Given the description of an element on the screen output the (x, y) to click on. 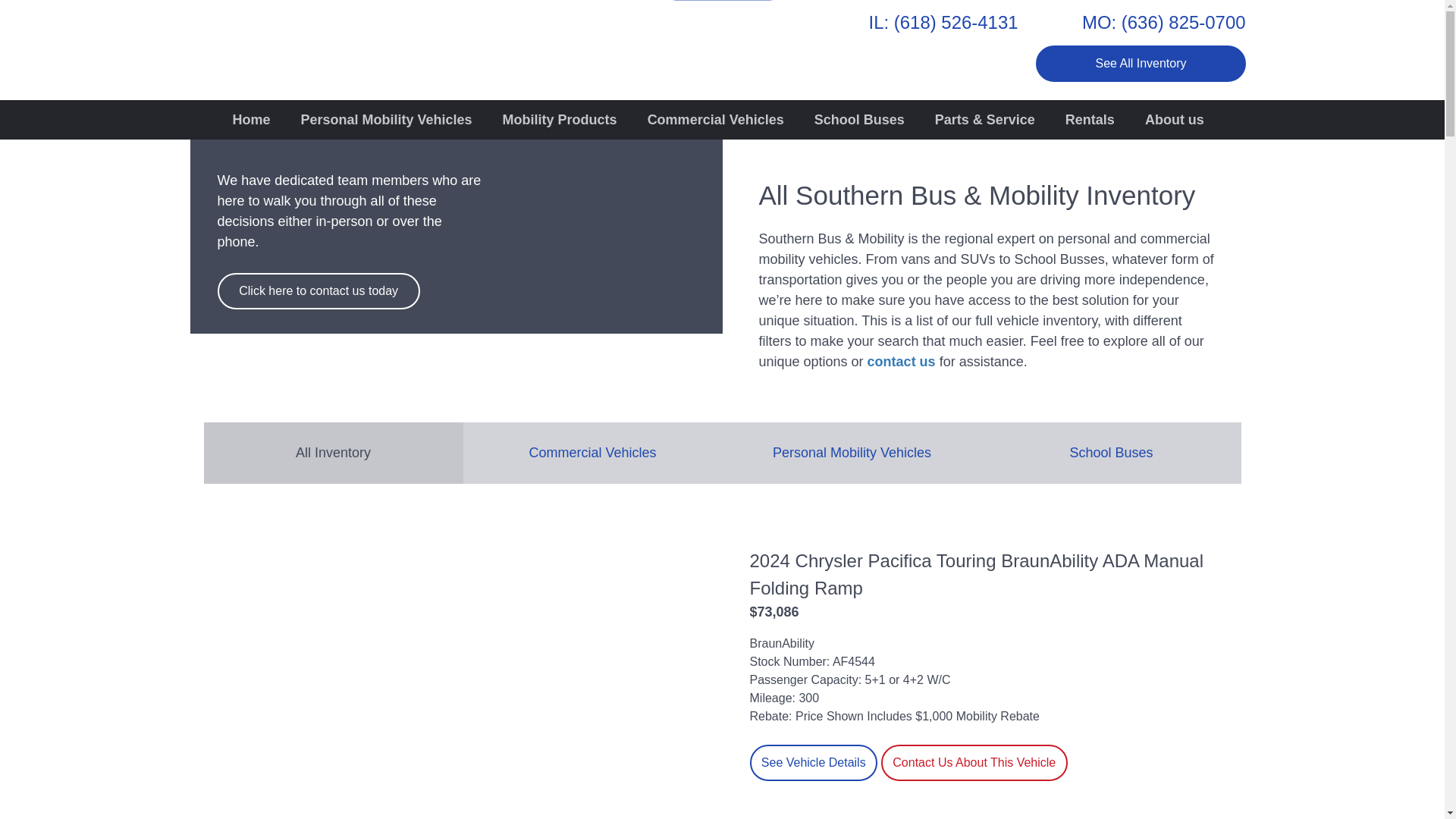
Commercial Vehicles (715, 118)
Rentals (1089, 118)
Personal Mobility Vehicles (386, 118)
Home (250, 118)
Southern Bus and Mobility (280, 43)
Home (250, 118)
See All Inventory (1139, 63)
School Buses (859, 118)
Mobility Products (559, 118)
About us (1174, 118)
Commercial Vehicles (715, 118)
Personal Mobility Vehicles (386, 118)
Mobility Products (559, 118)
See All Inventory (1139, 63)
